Given the description of an element on the screen output the (x, y) to click on. 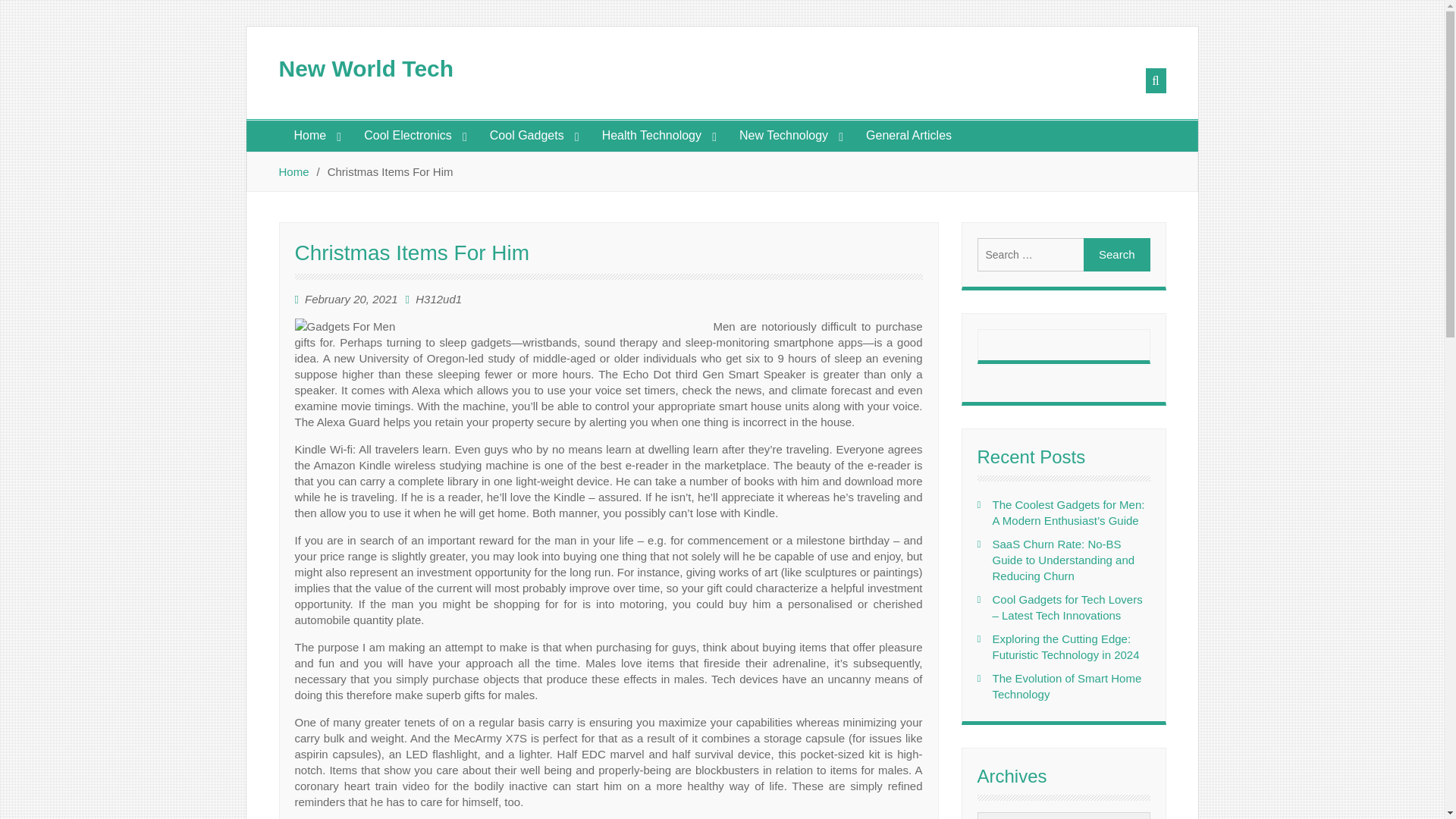
Cool Electronics (411, 135)
Cool Gadgets (530, 135)
Home (314, 135)
New World Tech (366, 68)
Search (1116, 254)
Search (1116, 254)
Health Technology (654, 135)
